Given the description of an element on the screen output the (x, y) to click on. 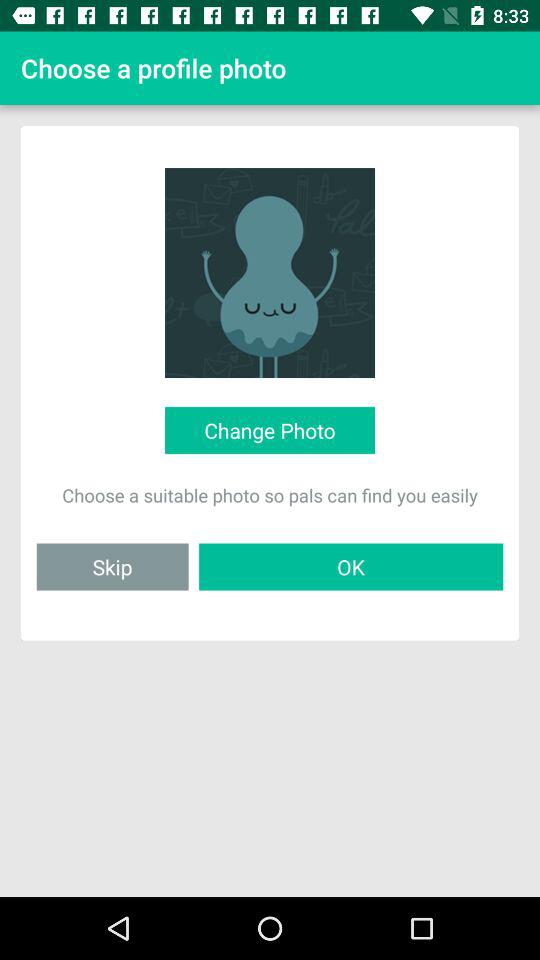
tap skip icon (112, 566)
